Given the description of an element on the screen output the (x, y) to click on. 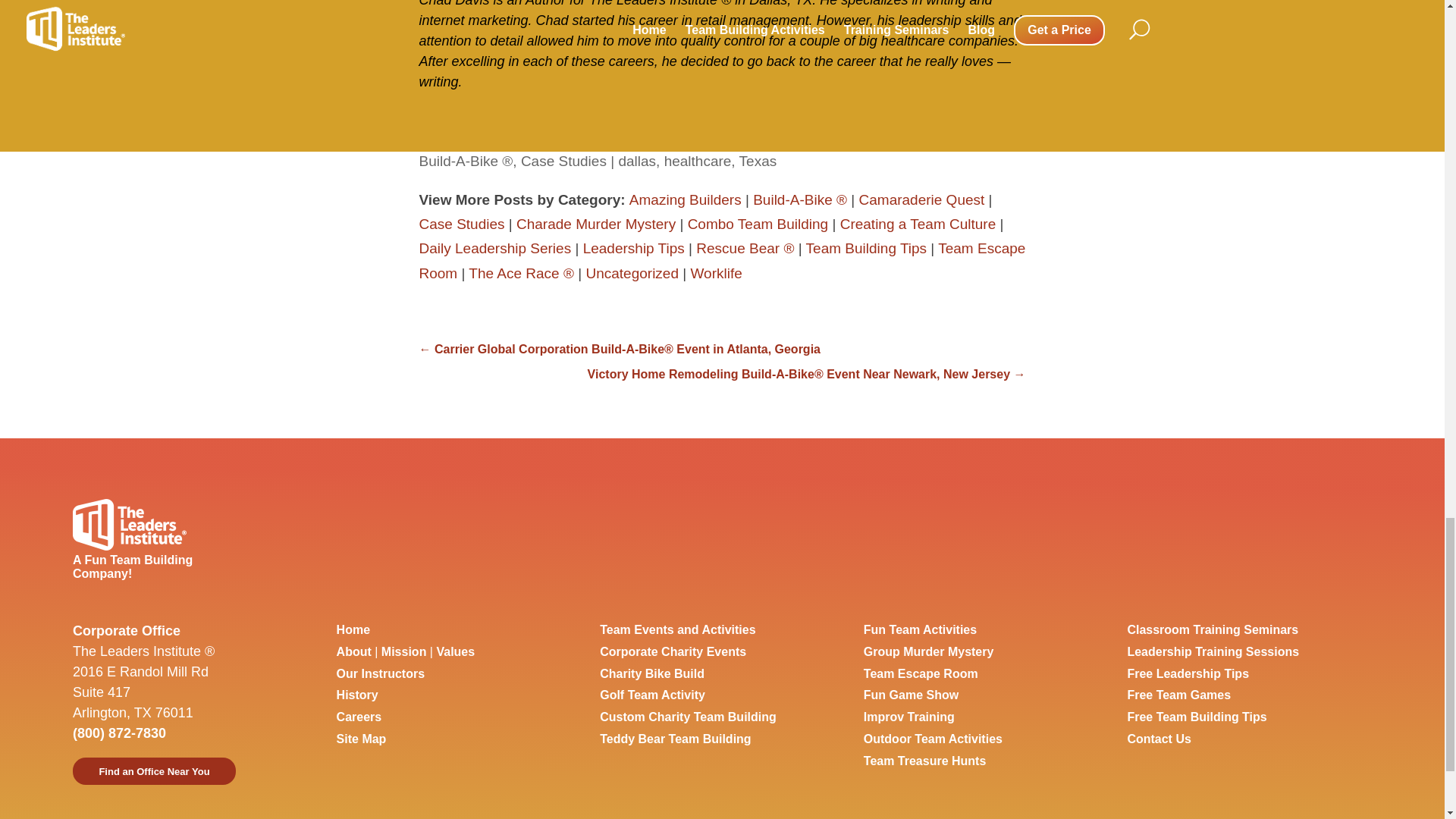
healthcare (697, 160)
Case Studies (461, 223)
Camaraderie Quest (922, 199)
Case Studies (564, 160)
Charade Murder Mystery (595, 223)
Amazing Builders (684, 199)
Texas (758, 160)
The Leaders Institute Mission Statement (403, 651)
About The Leaders Institute (353, 651)
Team Building Company (352, 629)
